Given the description of an element on the screen output the (x, y) to click on. 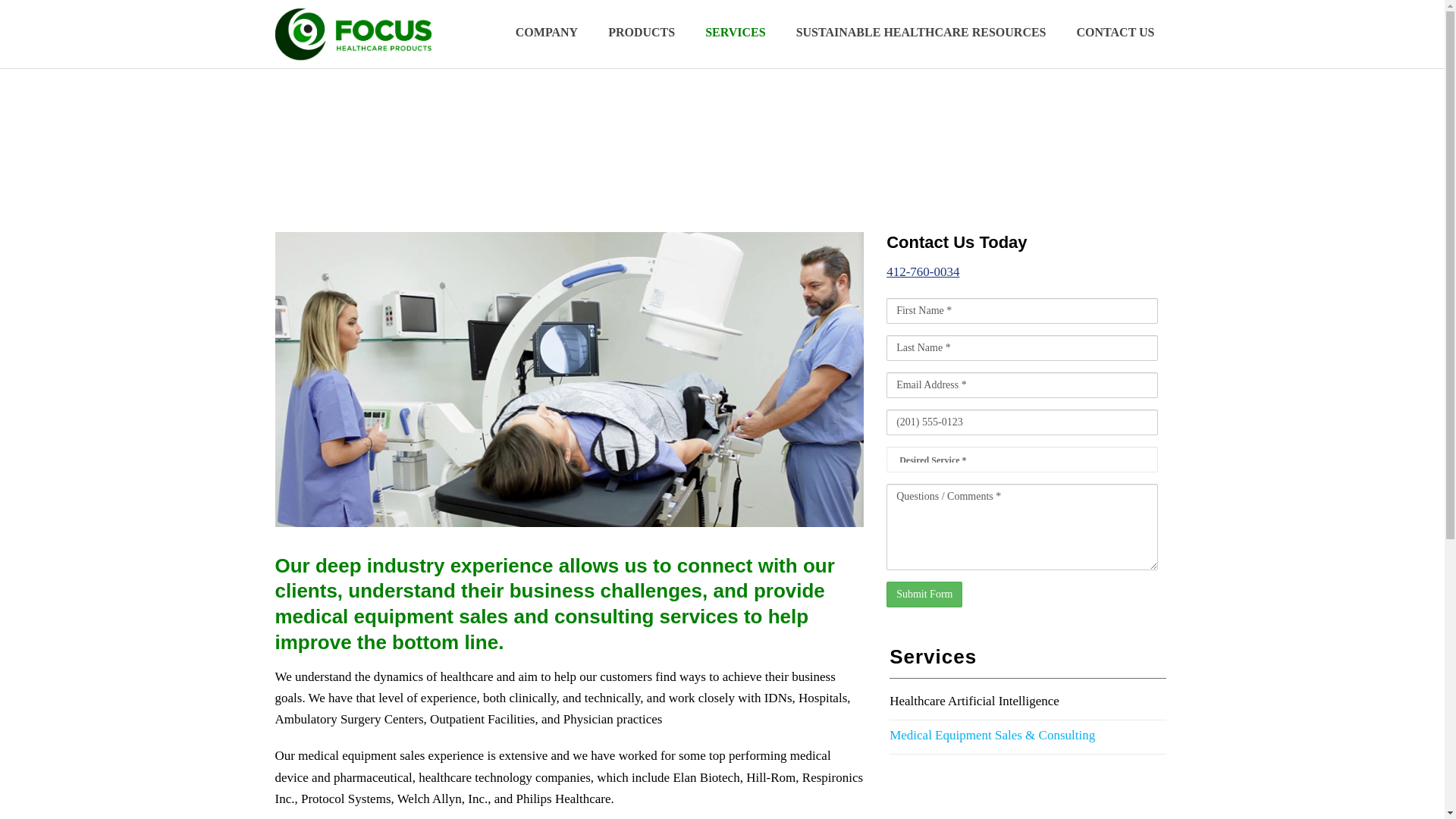
SERVICES (735, 33)
SERVICES (735, 33)
SUSTAINABLE HEALTHCARE RESOURCES (920, 33)
SUSTAINABLE HEALTHCARE RESOURCES (920, 33)
PRODUCTS (641, 33)
Submit Form (924, 594)
CONTACT US (1115, 33)
COMPANY (546, 33)
PRODUCTS (641, 33)
CONTACT US (1115, 33)
